Given the description of an element on the screen output the (x, y) to click on. 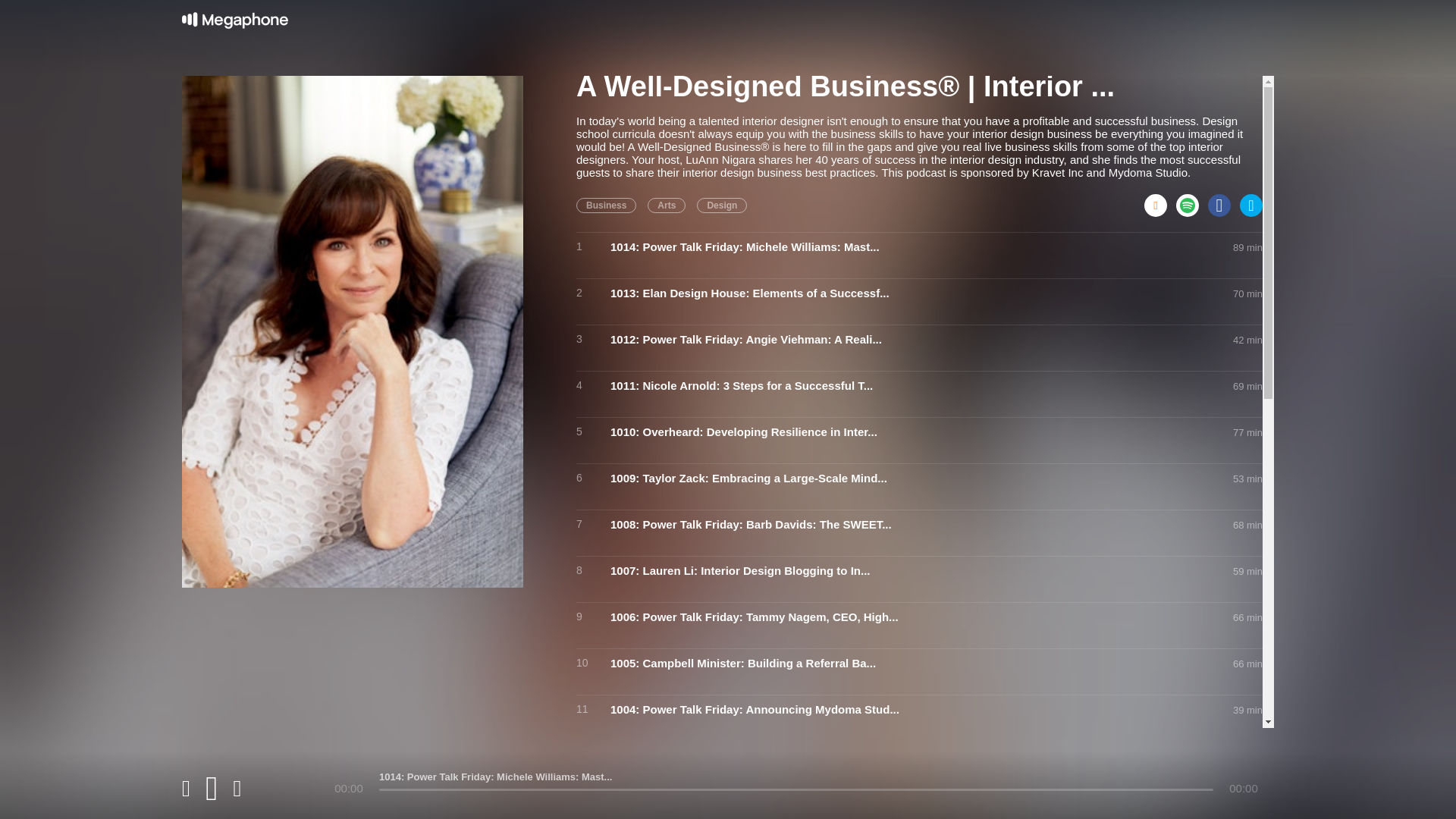
Share via Facebook (1224, 200)
Subscribe via Spotify (1192, 200)
Share via Twitter (1251, 200)
Subscribe via RSS (1160, 200)
